Given the description of an element on the screen output the (x, y) to click on. 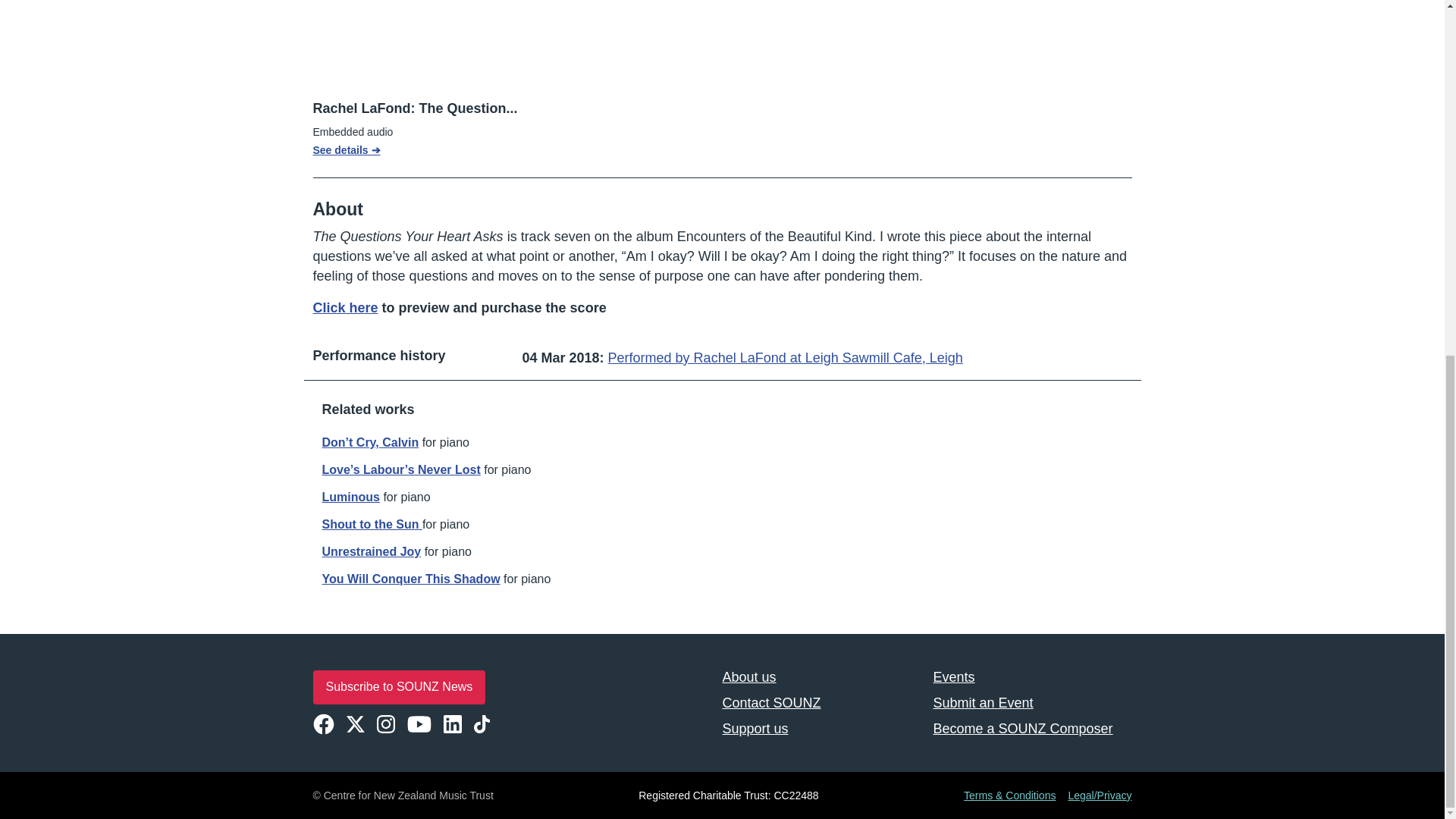
Subscribe to SOUNZ News (398, 687)
You Will Conquer This Shadow (410, 578)
Click here (345, 307)
Performed by Rachel LaFond at Leigh Sawmill Cafe, Leigh (785, 357)
Shout to the Sun (371, 523)
Unrestrained Joy (370, 551)
Luminous (349, 496)
About us (821, 676)
